Given the description of an element on the screen output the (x, y) to click on. 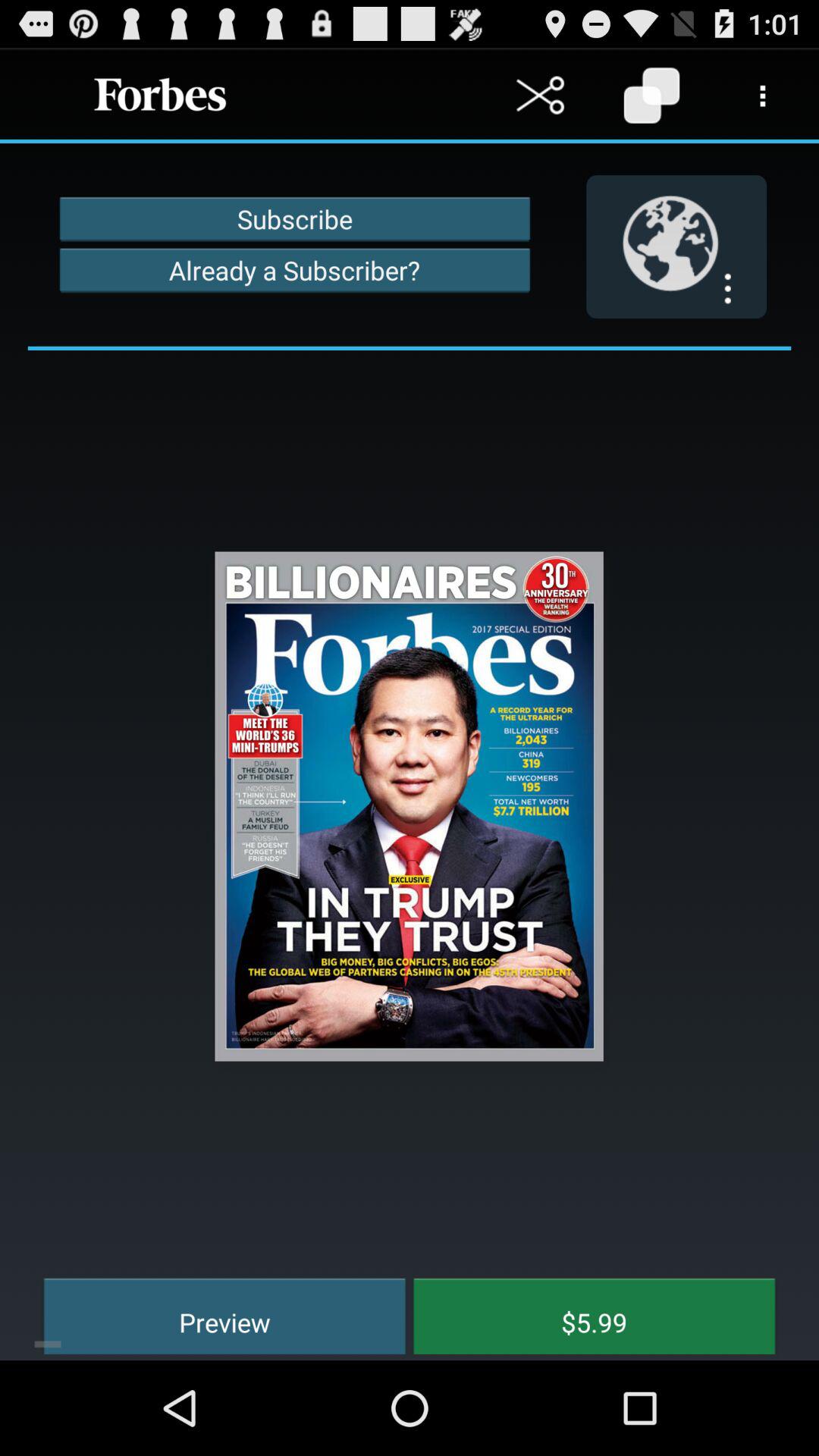
click the icon to the right of preview icon (583, 1314)
